Given the description of an element on the screen output the (x, y) to click on. 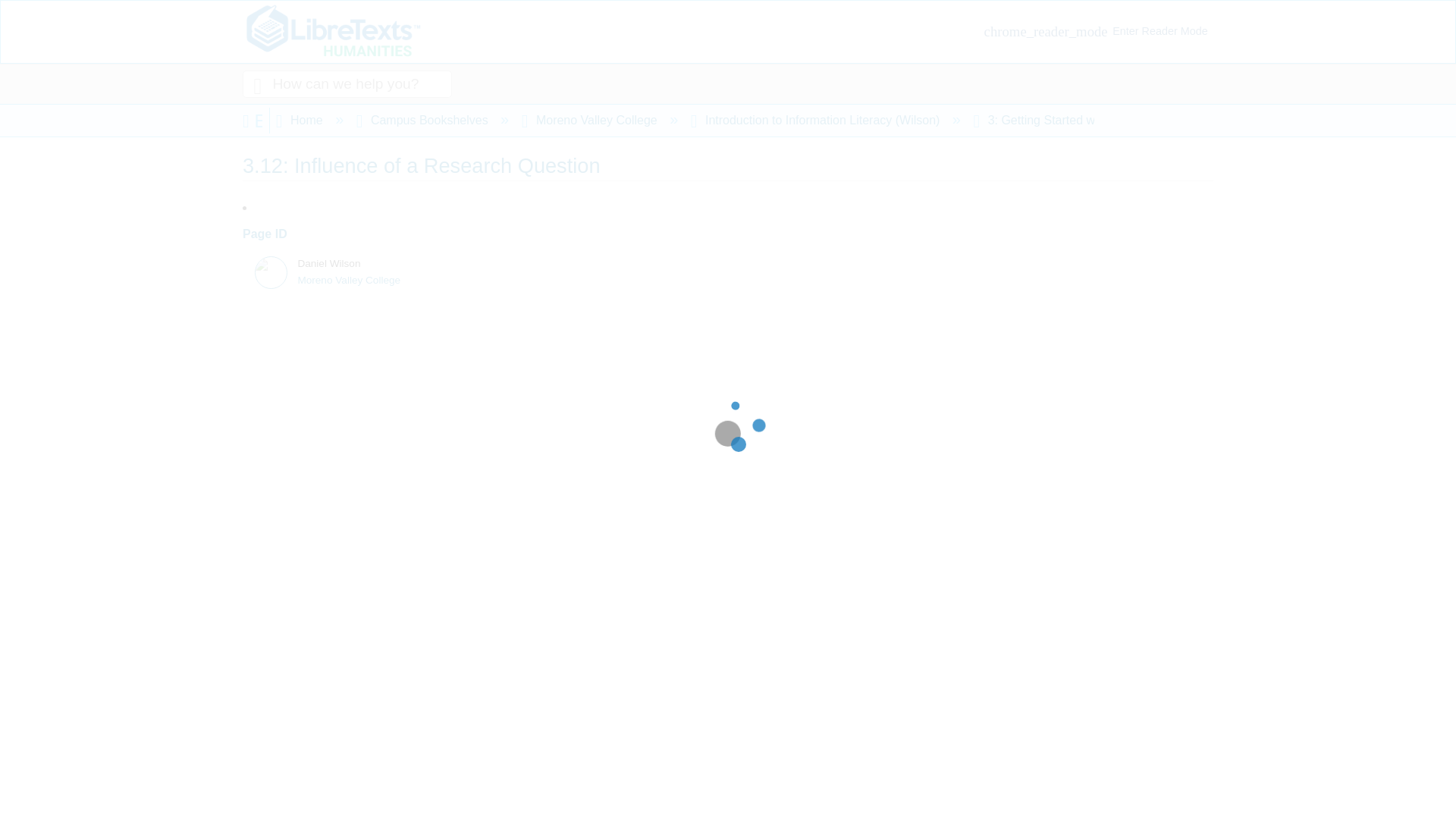
Daniel Wilson (261, 264)
